Given the description of an element on the screen output the (x, y) to click on. 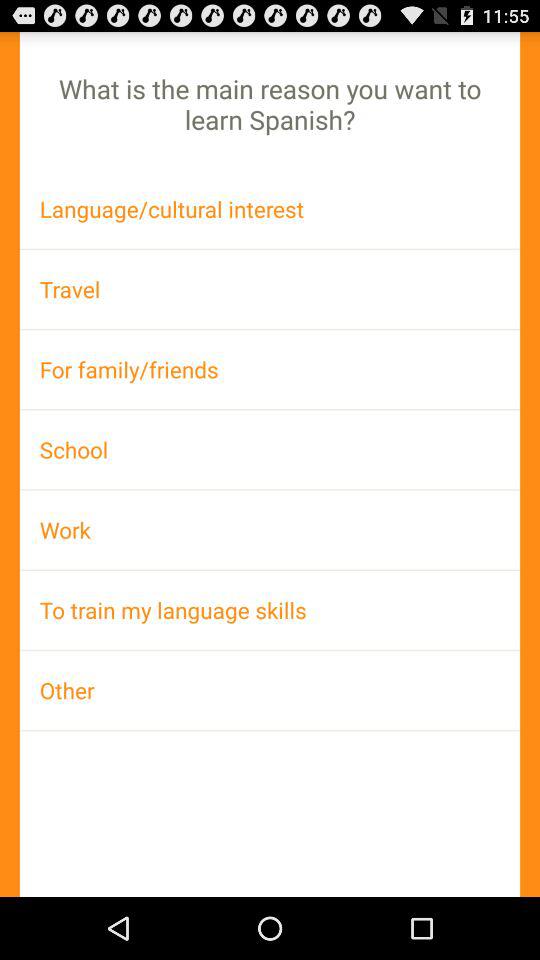
open work app (269, 529)
